Given the description of an element on the screen output the (x, y) to click on. 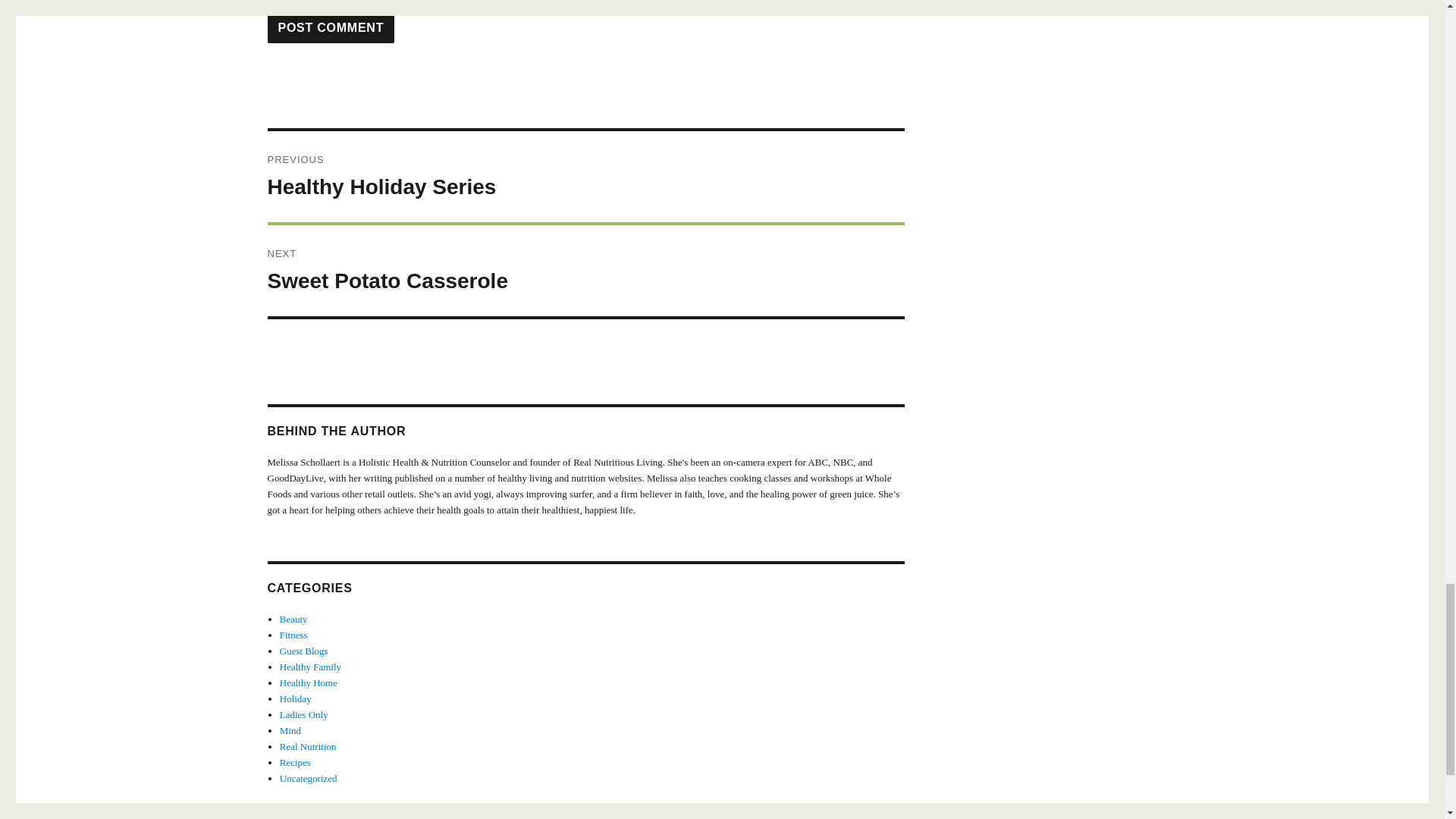
Beauty (293, 618)
Fitness (293, 634)
Post Comment (330, 27)
Post Comment (330, 27)
Healthy Family (585, 270)
Guest Blogs (585, 176)
